Given the description of an element on the screen output the (x, y) to click on. 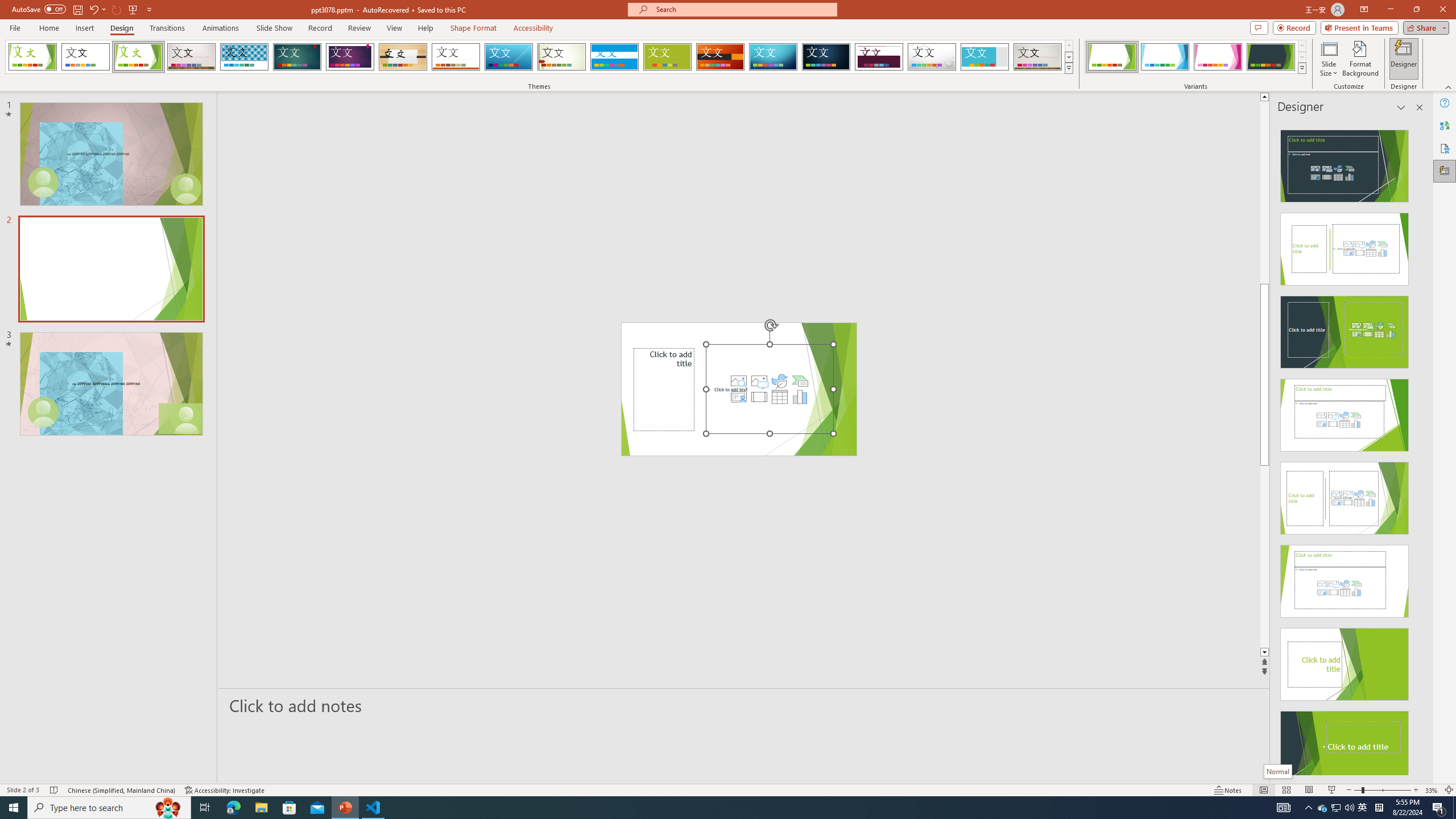
Frame (984, 56)
Zoom 33% (1431, 790)
